Given the description of an element on the screen output the (x, y) to click on. 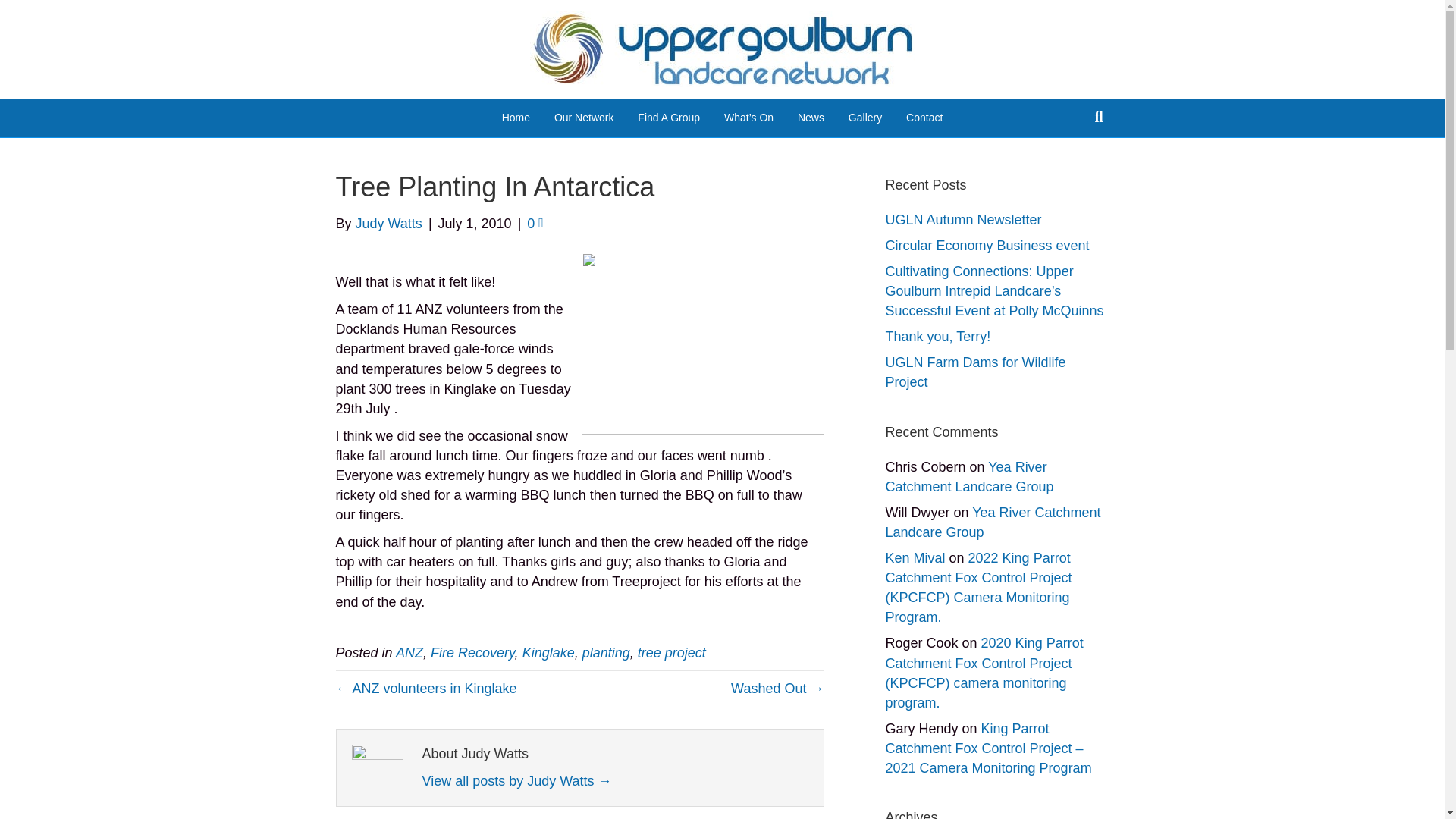
Find A Group (668, 118)
Contact (924, 118)
Kinglake (548, 652)
Judy Watts (388, 223)
Home (516, 118)
Gallery (865, 118)
ANZ (409, 652)
planting (606, 652)
Our Network (583, 118)
Fire Recovery (472, 652)
0 (535, 223)
News (810, 118)
